Given the description of an element on the screen output the (x, y) to click on. 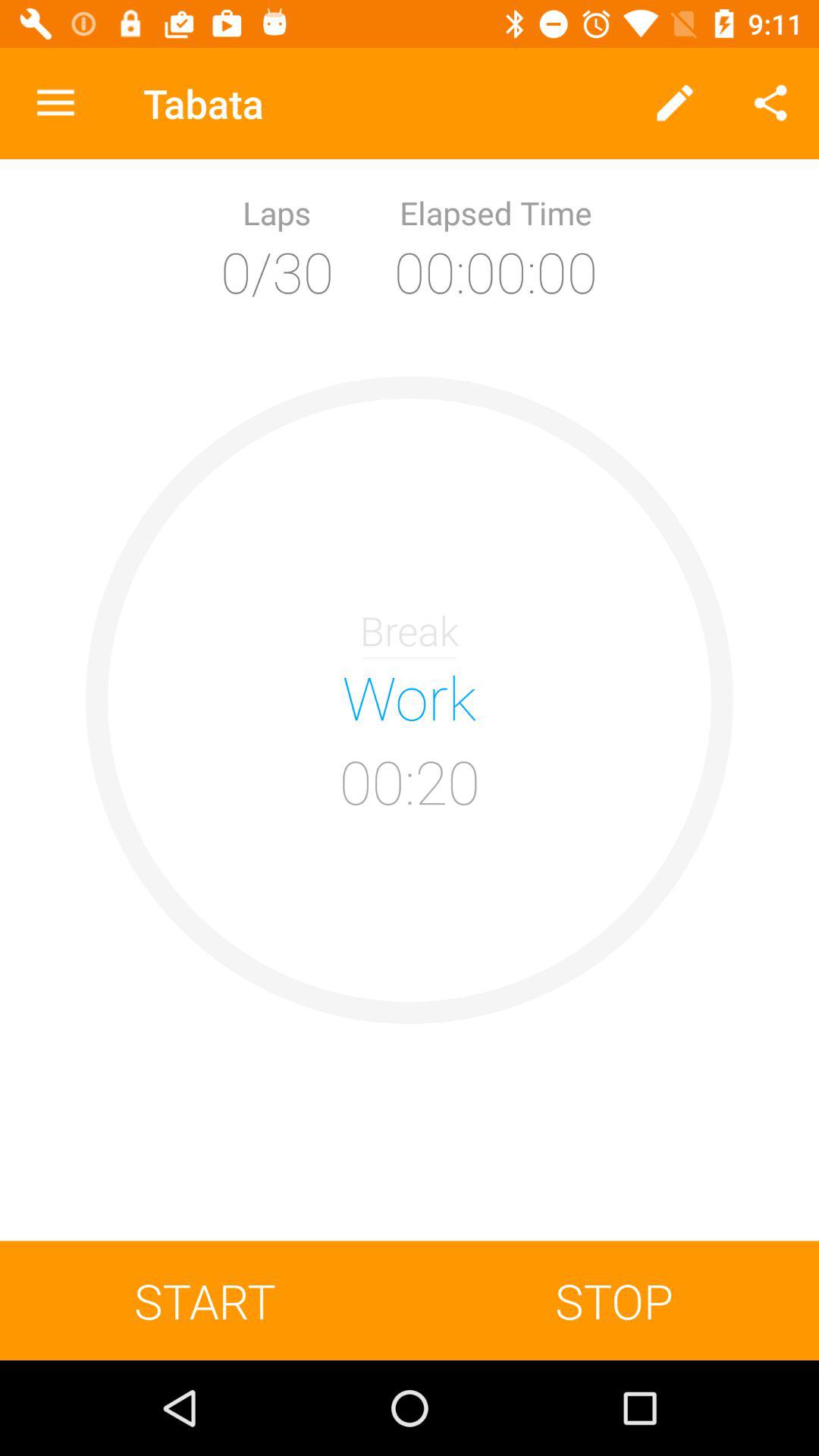
turn on the icon to the right of tabata (675, 103)
